Given the description of an element on the screen output the (x, y) to click on. 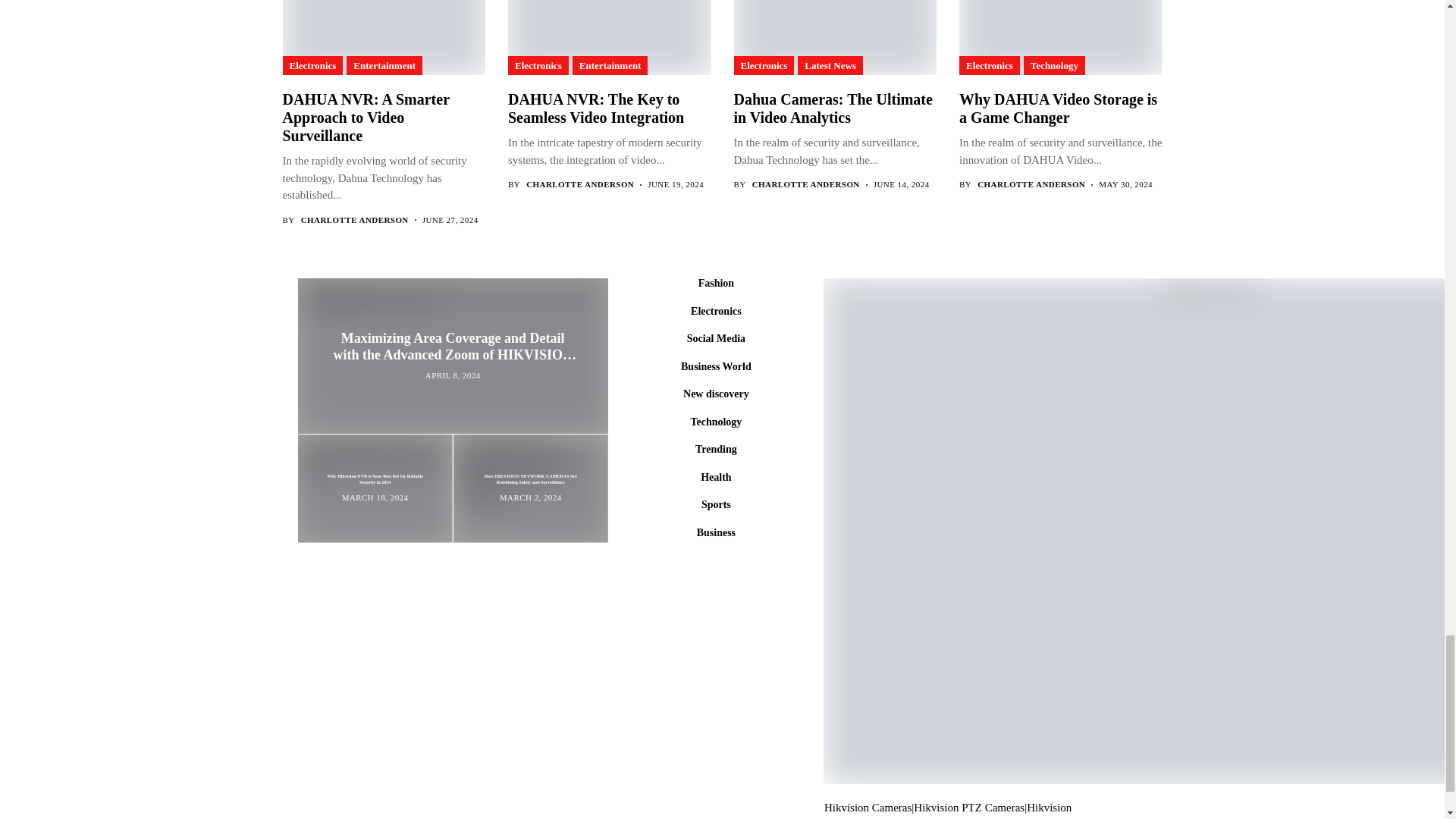
Why DAHUA Video Storage is a Game Changer (1059, 37)
Posts by Charlotte Anderson (355, 220)
Posts by Charlotte Anderson (579, 184)
Posts by Charlotte Anderson (806, 184)
Dahua Cameras: The Ultimate in Video Analytics (834, 37)
Posts by Charlotte Anderson (1030, 184)
DAHUA NVR: The Key to Seamless Video Integration (608, 37)
DAHUA NVR: A Smarter Approach to Video Surveillance (382, 37)
